Given the description of an element on the screen output the (x, y) to click on. 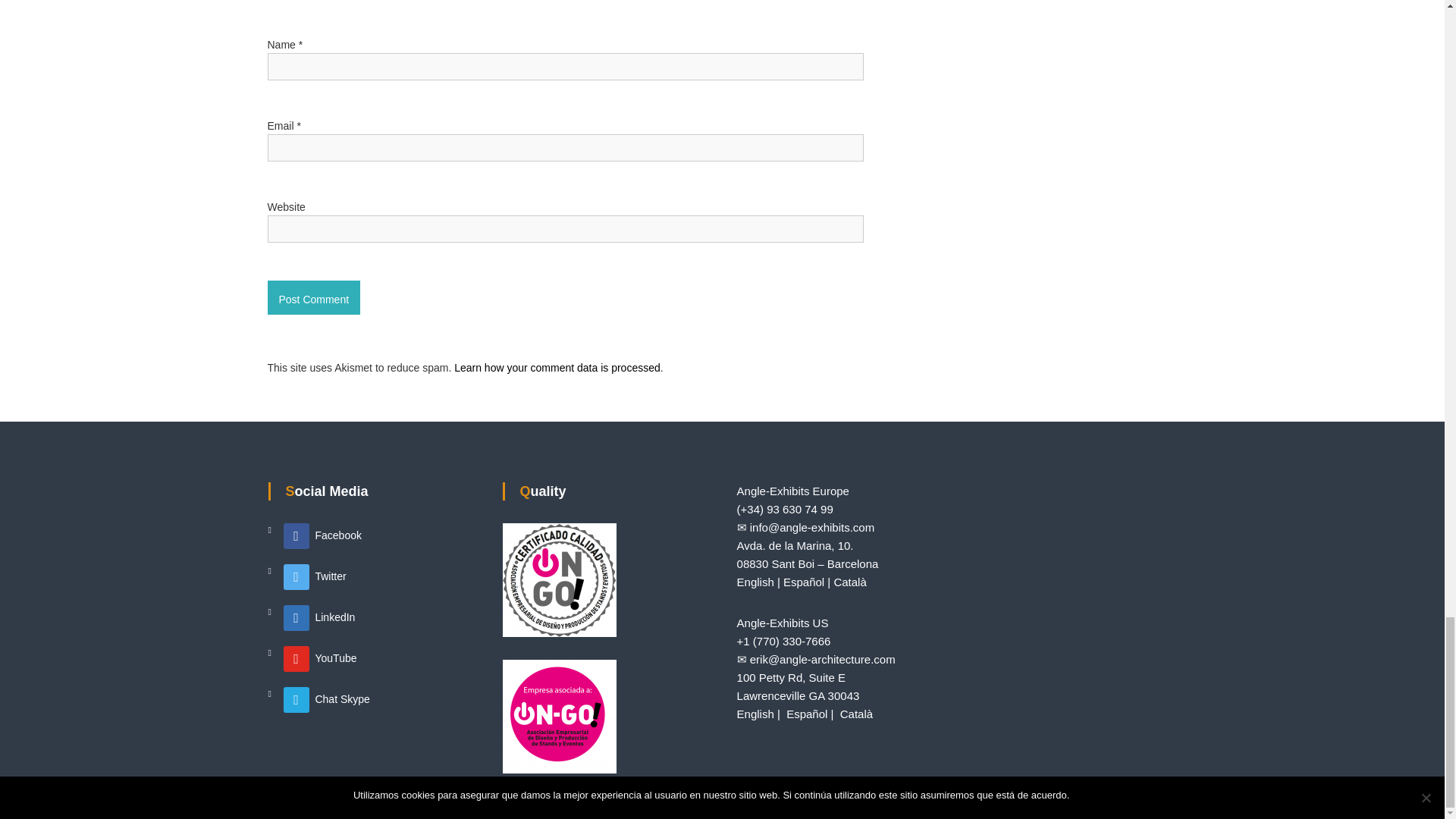
YouTube (319, 657)
Twitter (314, 576)
Post Comment (312, 297)
Post Comment (312, 297)
Facebook (322, 535)
Learn how your comment data is processed (557, 367)
LinkedIn (319, 616)
Chat Skype (326, 698)
